Given the description of an element on the screen output the (x, y) to click on. 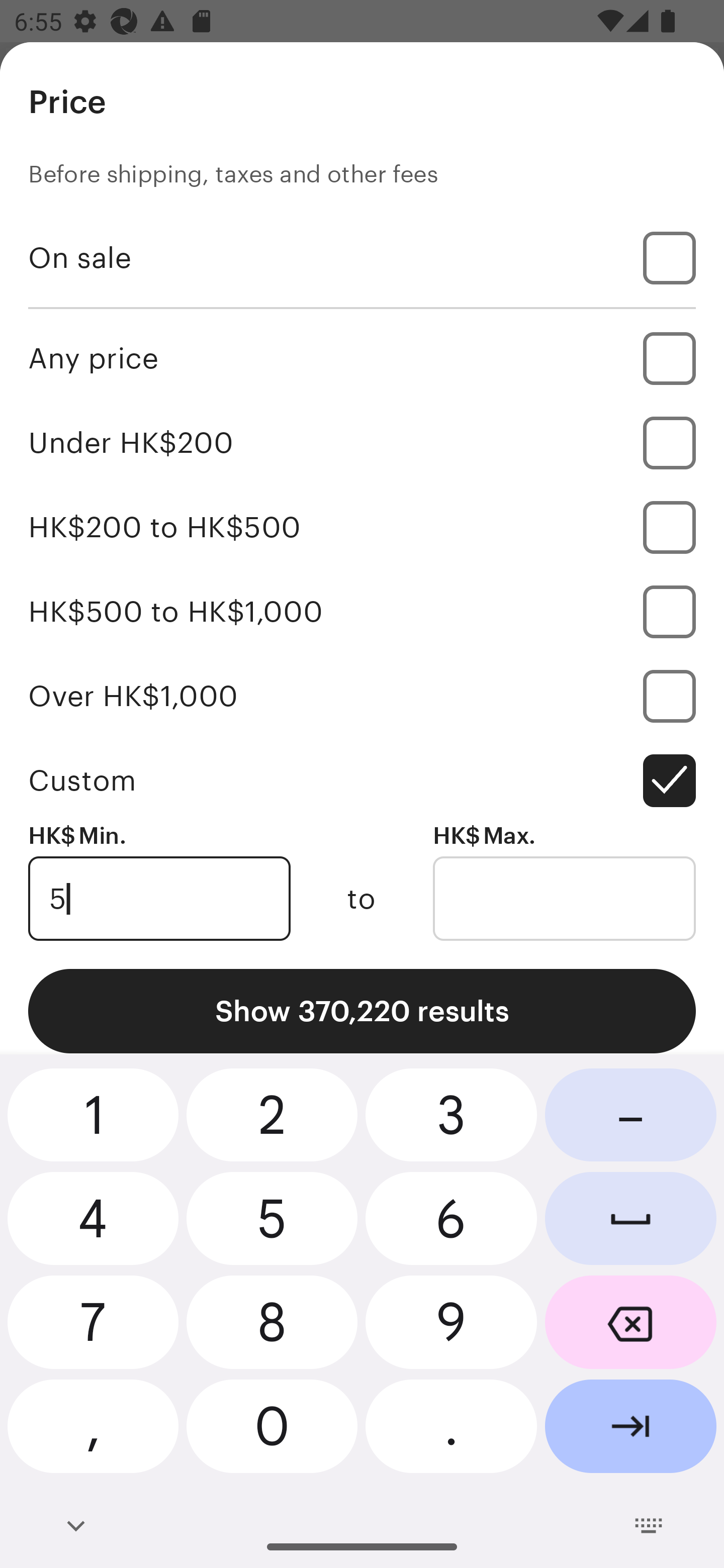
On sale (362, 257)
Any price (362, 357)
Under HK$200 (362, 441)
HK$200 to HK$500 (362, 526)
HK$500 to HK$1,000 (362, 611)
Over HK$1,000 (362, 695)
Custom (362, 780)
5 (159, 898)
Show 370,220 results (361, 1011)
